Given the description of an element on the screen output the (x, y) to click on. 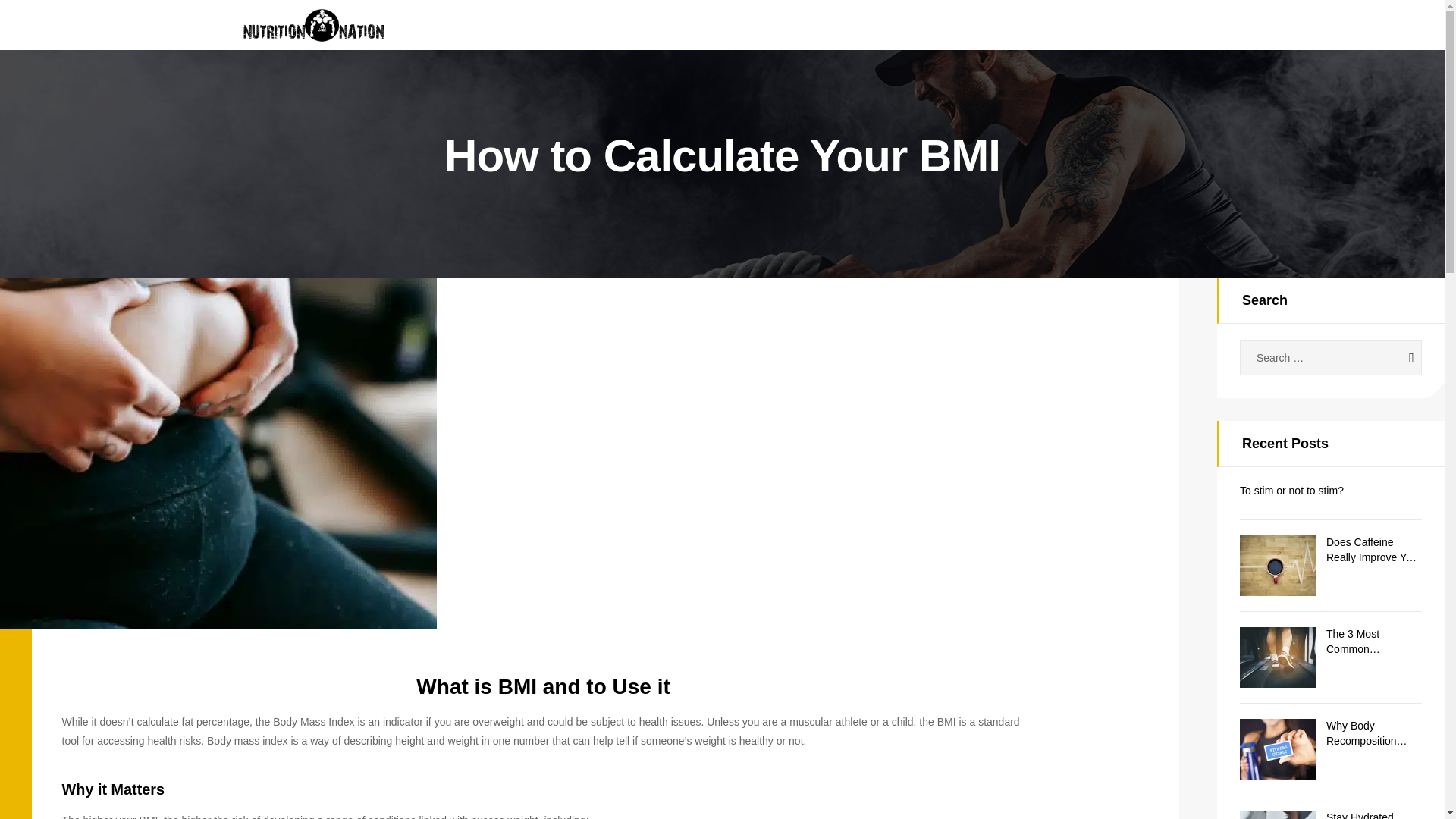
Stay Hydrated, Friends (1374, 814)
Why Body Recomposition Should Be Your New Fitness Goal (1374, 734)
Search (1396, 357)
Search (1396, 357)
Does Caffeine Really Improve Your Workouts? (1374, 550)
To stim or not to stim? (1331, 491)
Search (1396, 357)
